Given the description of an element on the screen output the (x, y) to click on. 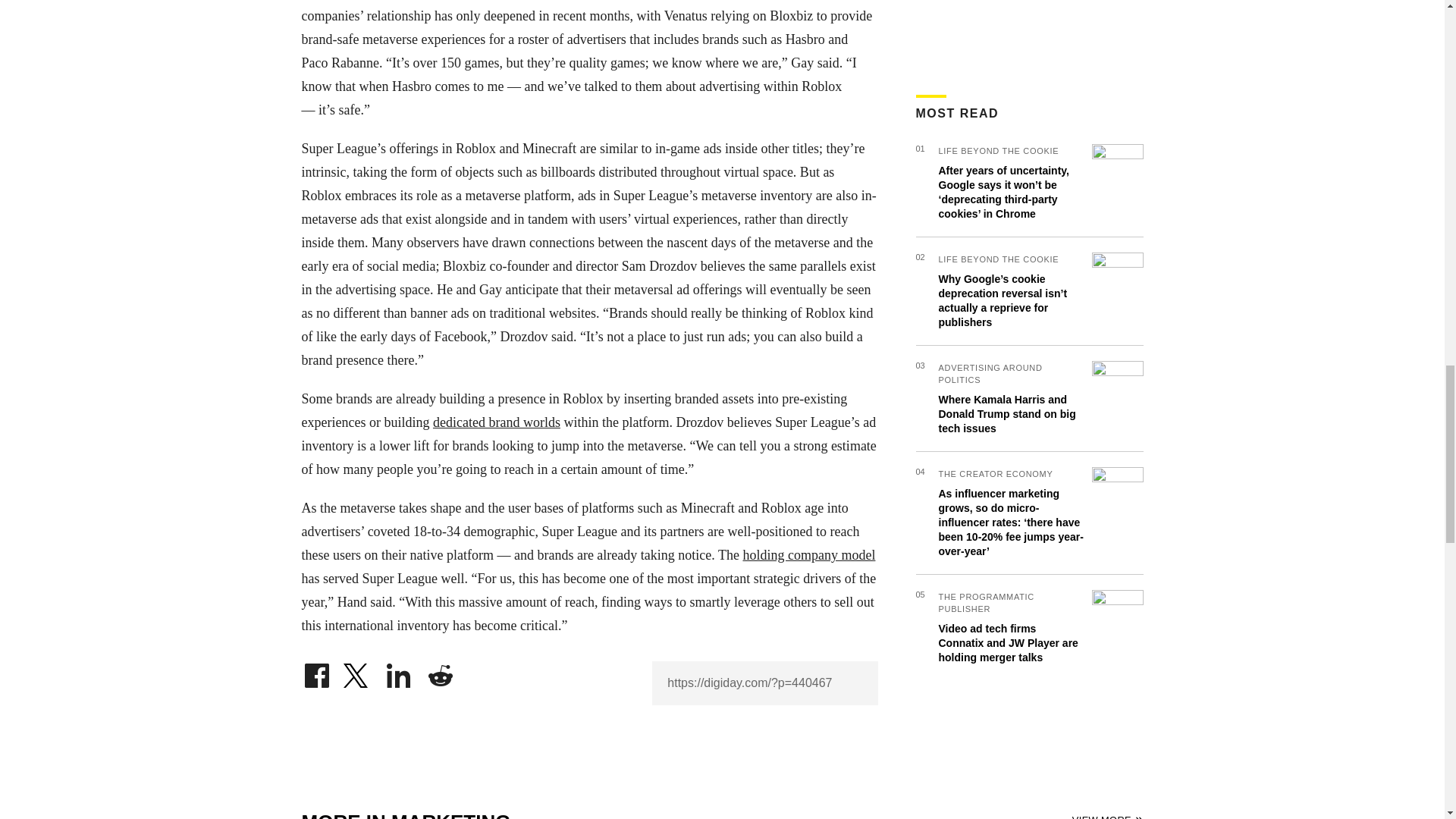
Share on Twitter (357, 671)
Share on LinkedIn (398, 671)
Share on Facebook (316, 671)
Share on Reddit (440, 671)
